Given the description of an element on the screen output the (x, y) to click on. 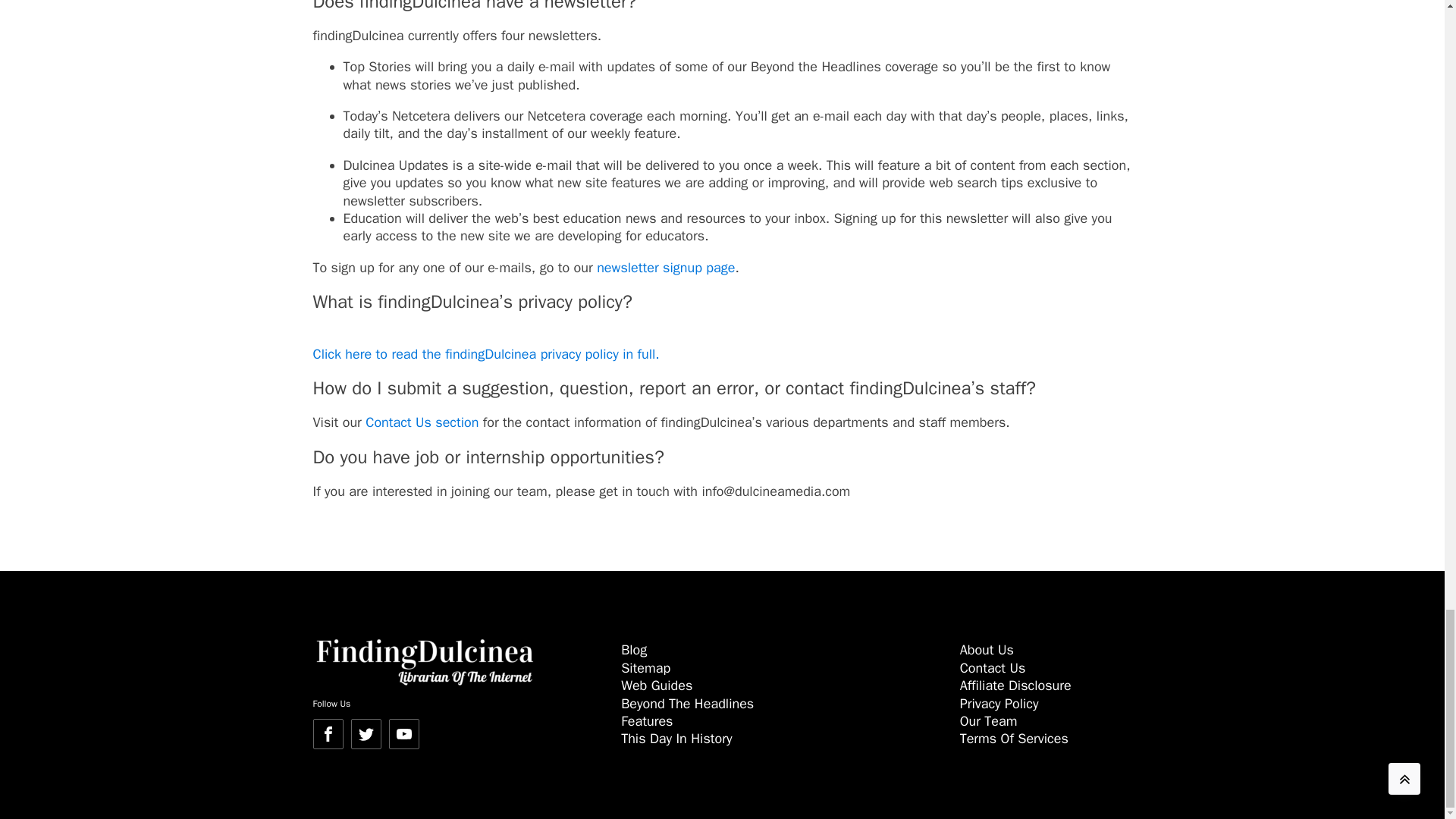
Sitemap (645, 668)
Blog (633, 649)
newsletter signup page (665, 267)
About Us (986, 649)
Contact Us section (422, 422)
Web Guides (657, 685)
This Day In History (676, 738)
Beyond The Headlines (687, 703)
Features (646, 720)
